Given the description of an element on the screen output the (x, y) to click on. 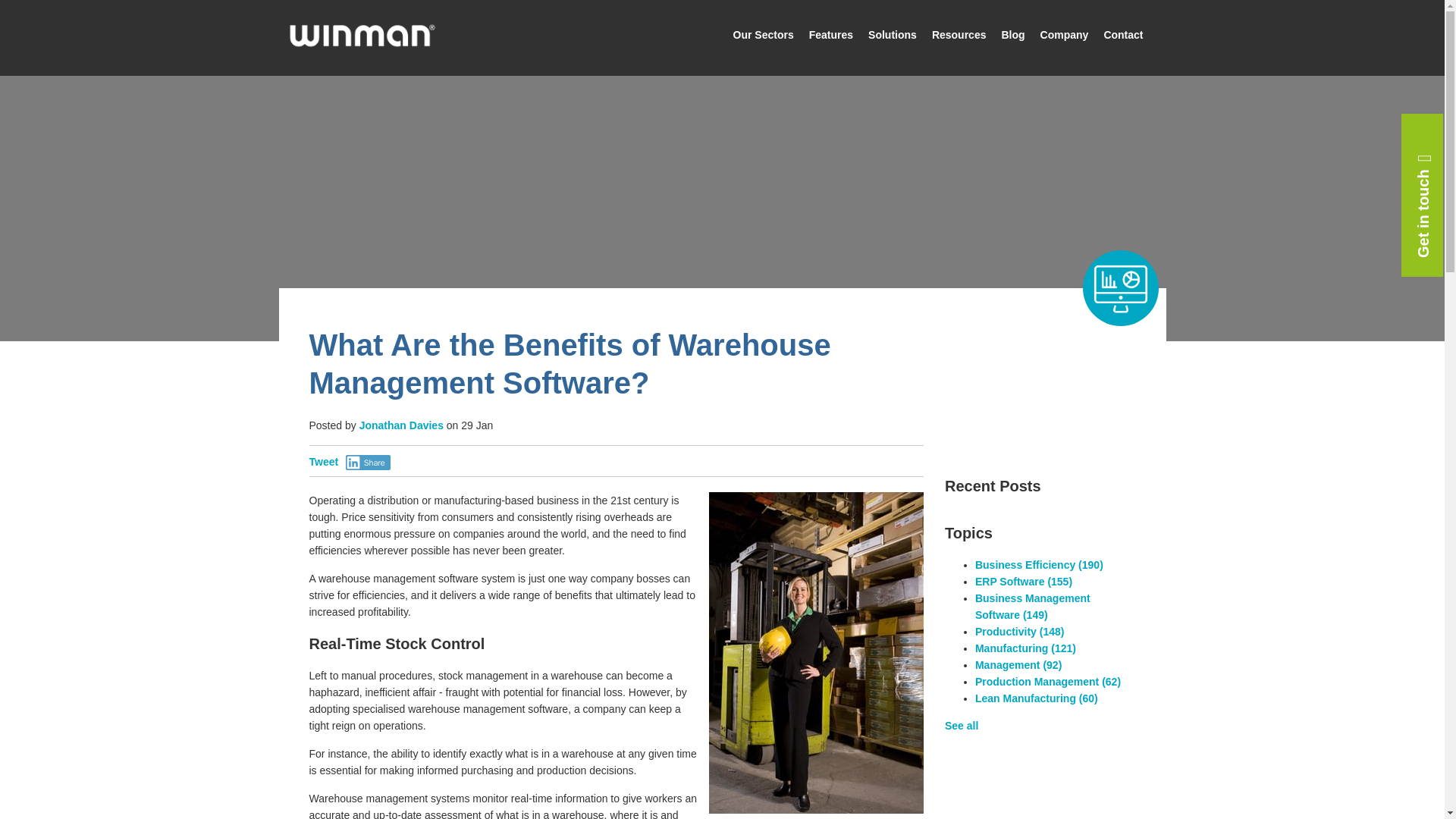
Features (831, 51)
winman-white.png (362, 35)
Our Sectors (763, 51)
